Given the description of an element on the screen output the (x, y) to click on. 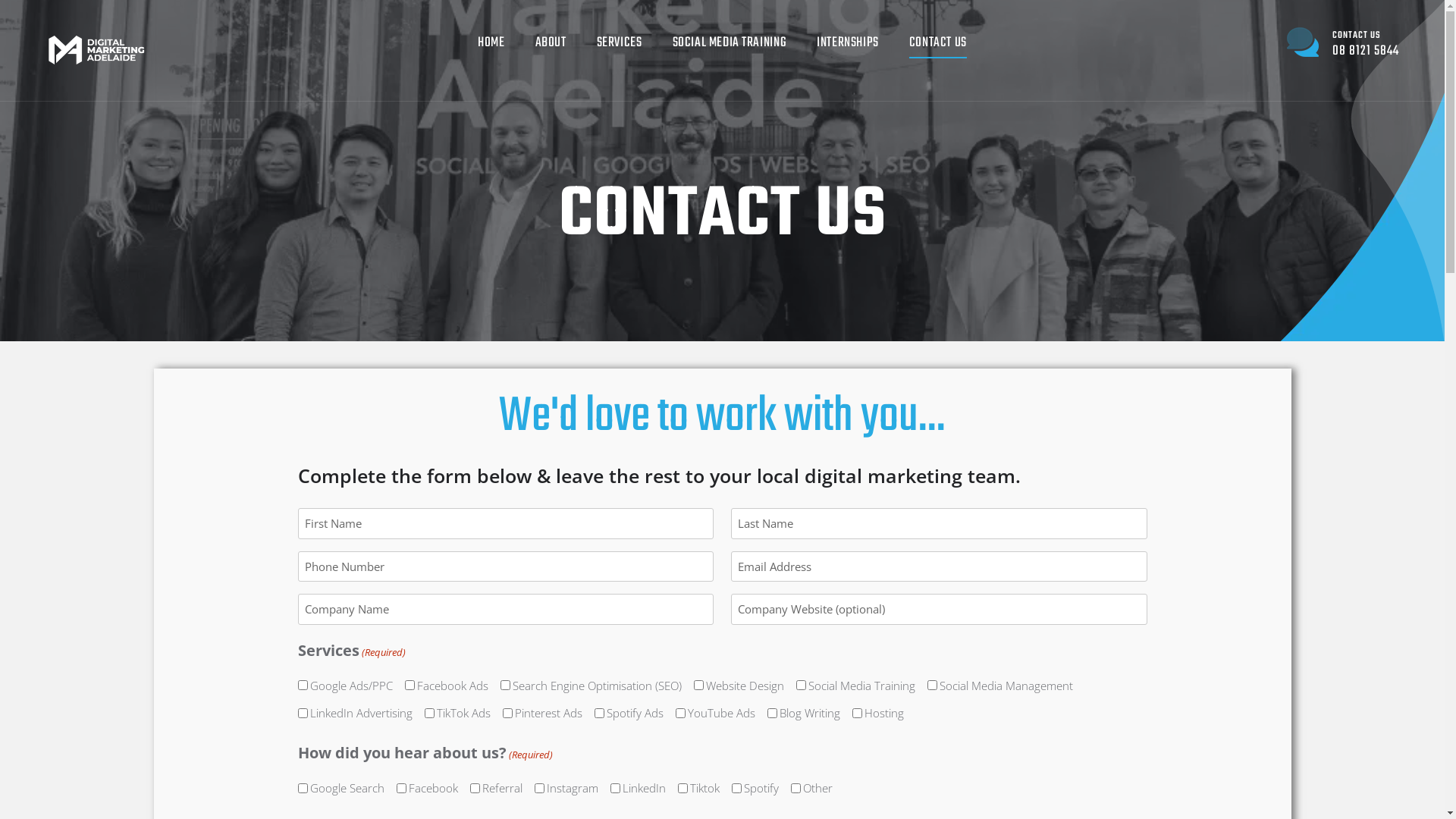
CONTACT US
08 8121 5844 Element type: text (1342, 42)
CONTACT US Element type: text (937, 42)
SERVICES Element type: text (619, 42)
HOME Element type: text (490, 42)
SOCIAL MEDIA TRAINING Element type: text (728, 42)
INTERNSHIPS Element type: text (847, 42)
ABOUT Element type: text (550, 42)
